Given the description of an element on the screen output the (x, y) to click on. 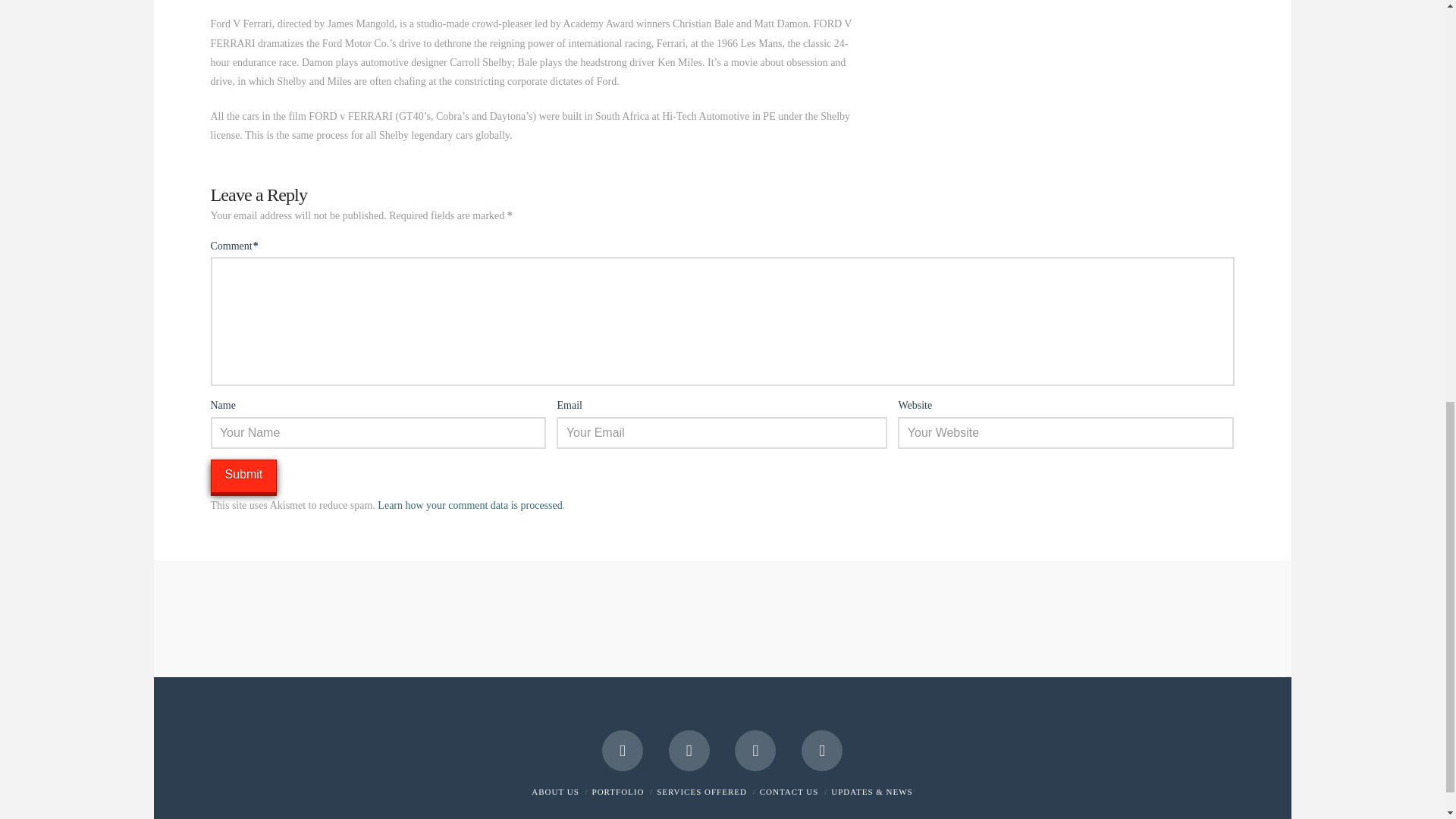
Instagram (755, 750)
SoundCloud (822, 750)
Submit (244, 476)
YouTube (689, 750)
Facebook (622, 750)
